Given the description of an element on the screen output the (x, y) to click on. 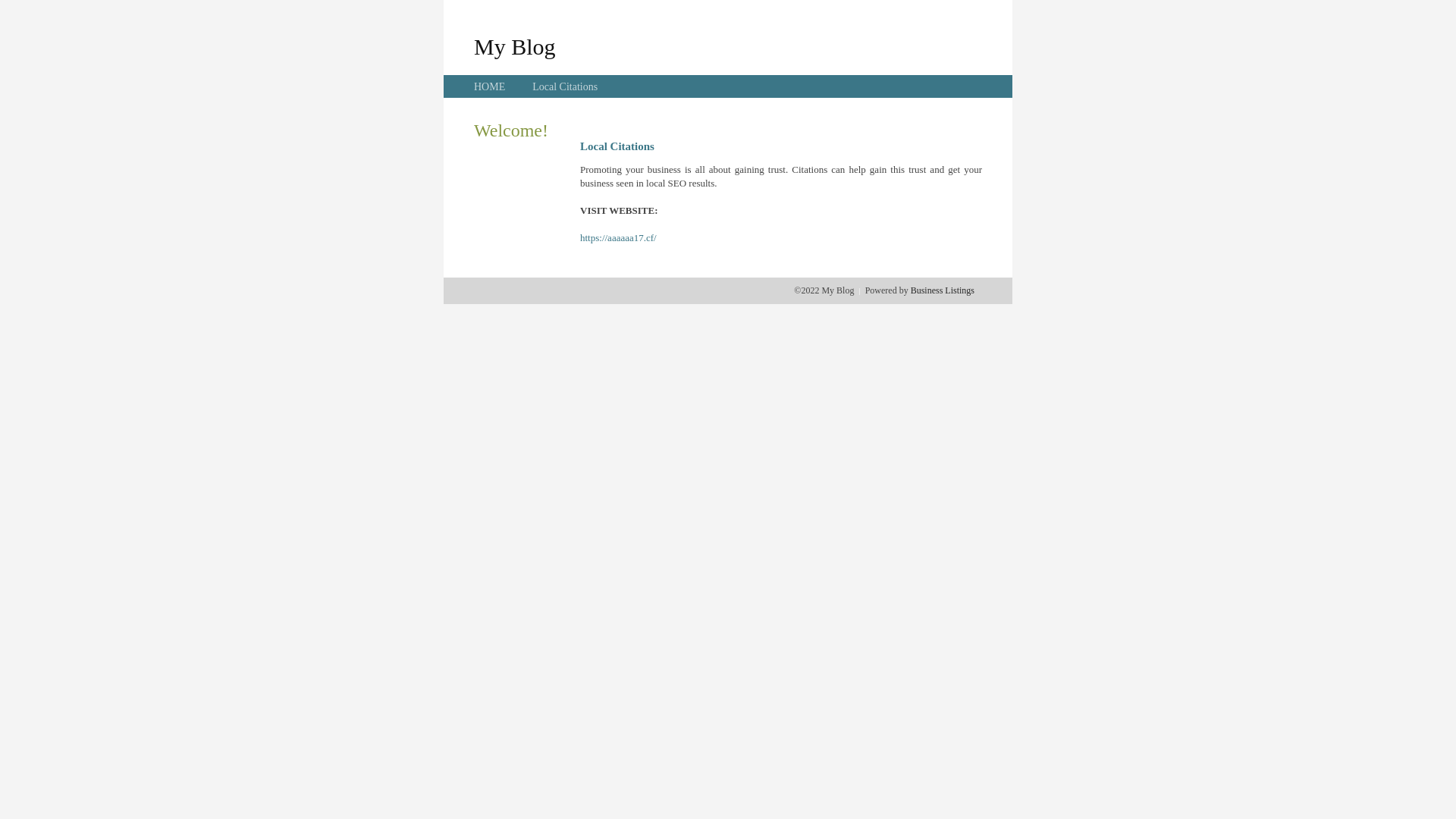
Business Listings Element type: text (942, 290)
https://aaaaaa17.cf/ Element type: text (618, 237)
My Blog Element type: text (514, 46)
HOME Element type: text (489, 86)
Local Citations Element type: text (564, 86)
